Given the description of an element on the screen output the (x, y) to click on. 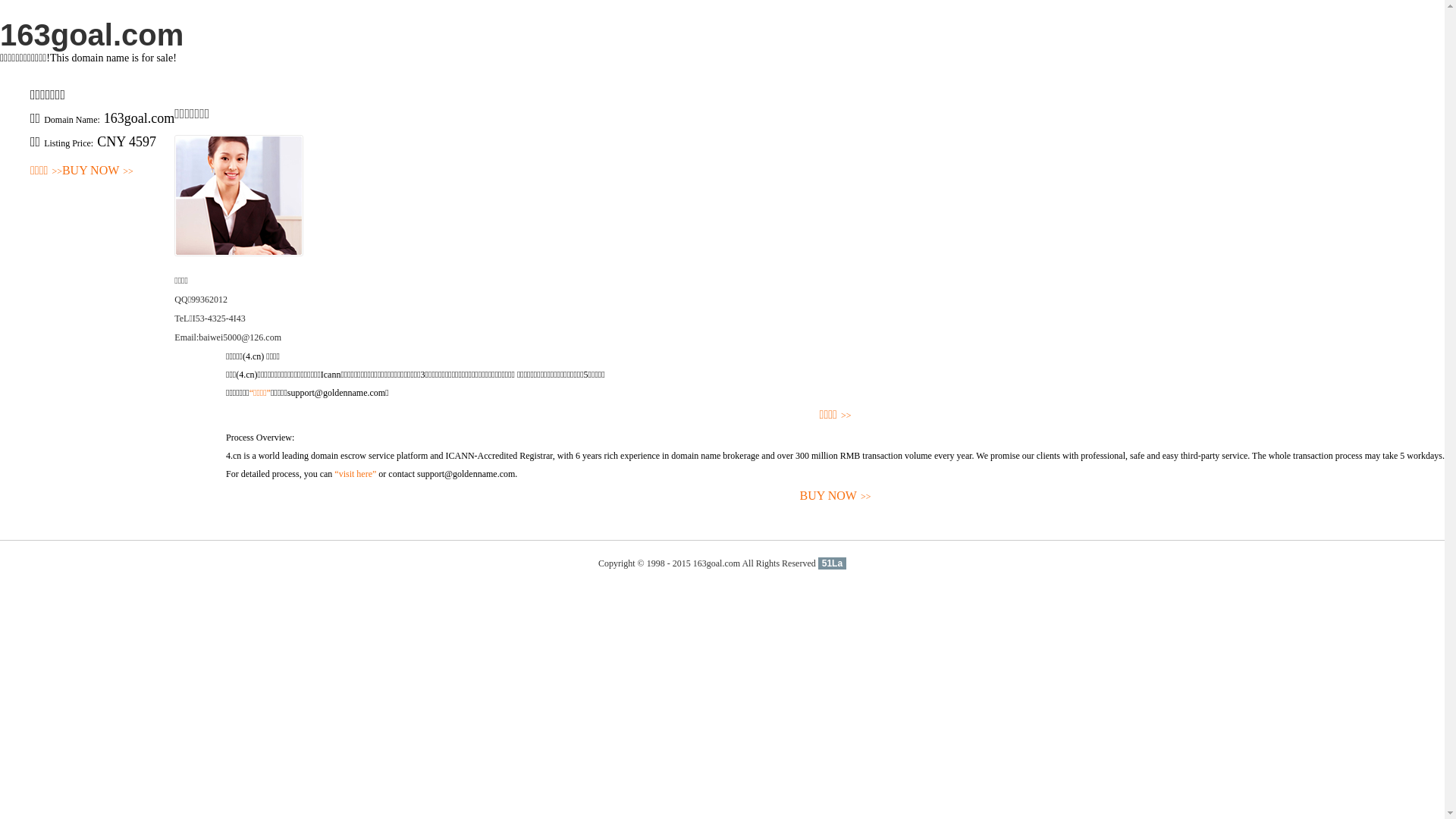
BUY NOW>> Element type: text (834, 496)
51La Element type: text (832, 563)
BUY NOW>> Element type: text (97, 170)
